Given the description of an element on the screen output the (x, y) to click on. 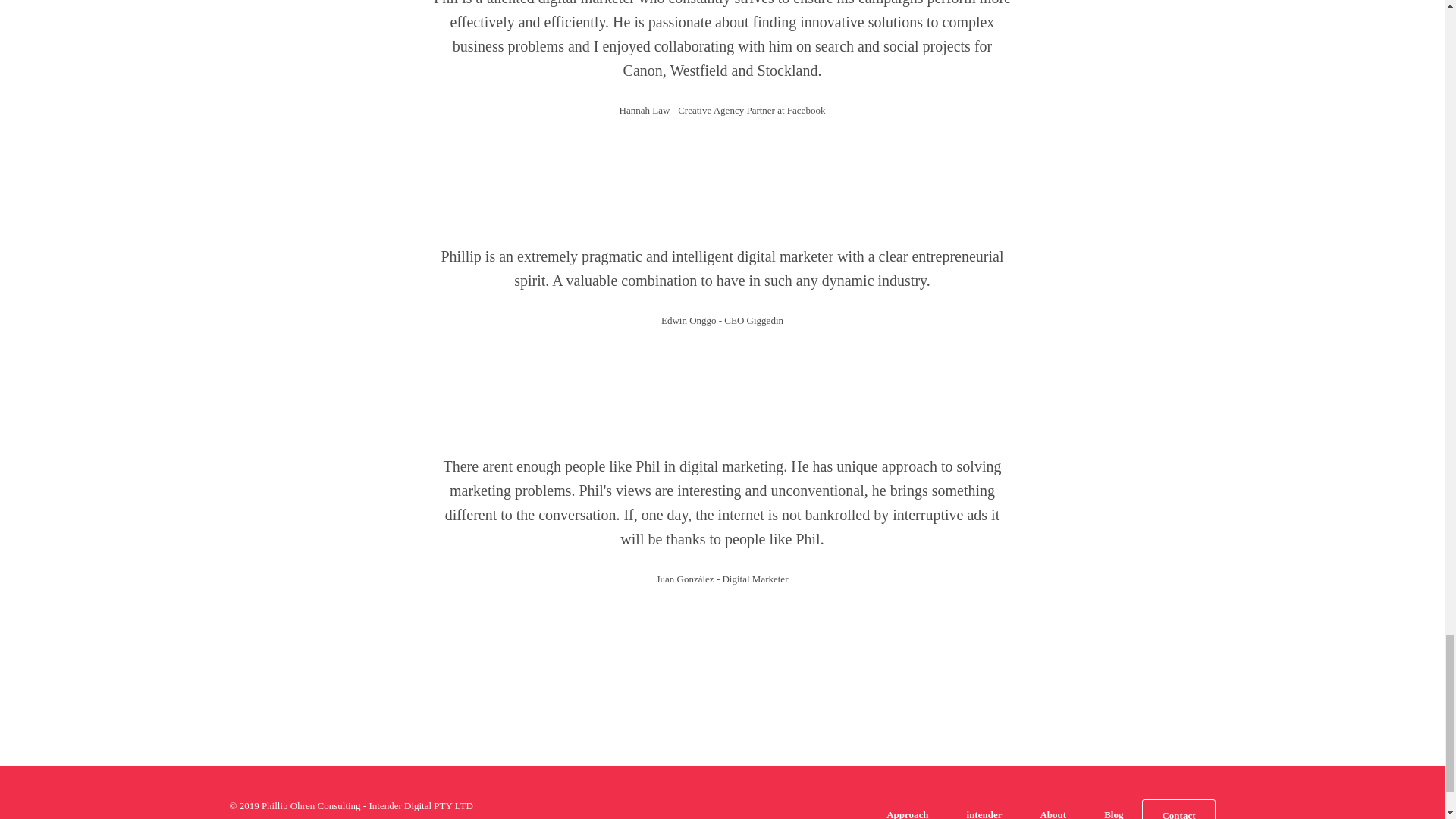
intender (984, 812)
Contact (1178, 813)
Blog (1112, 812)
Approach (907, 812)
About (1052, 812)
